Given the description of an element on the screen output the (x, y) to click on. 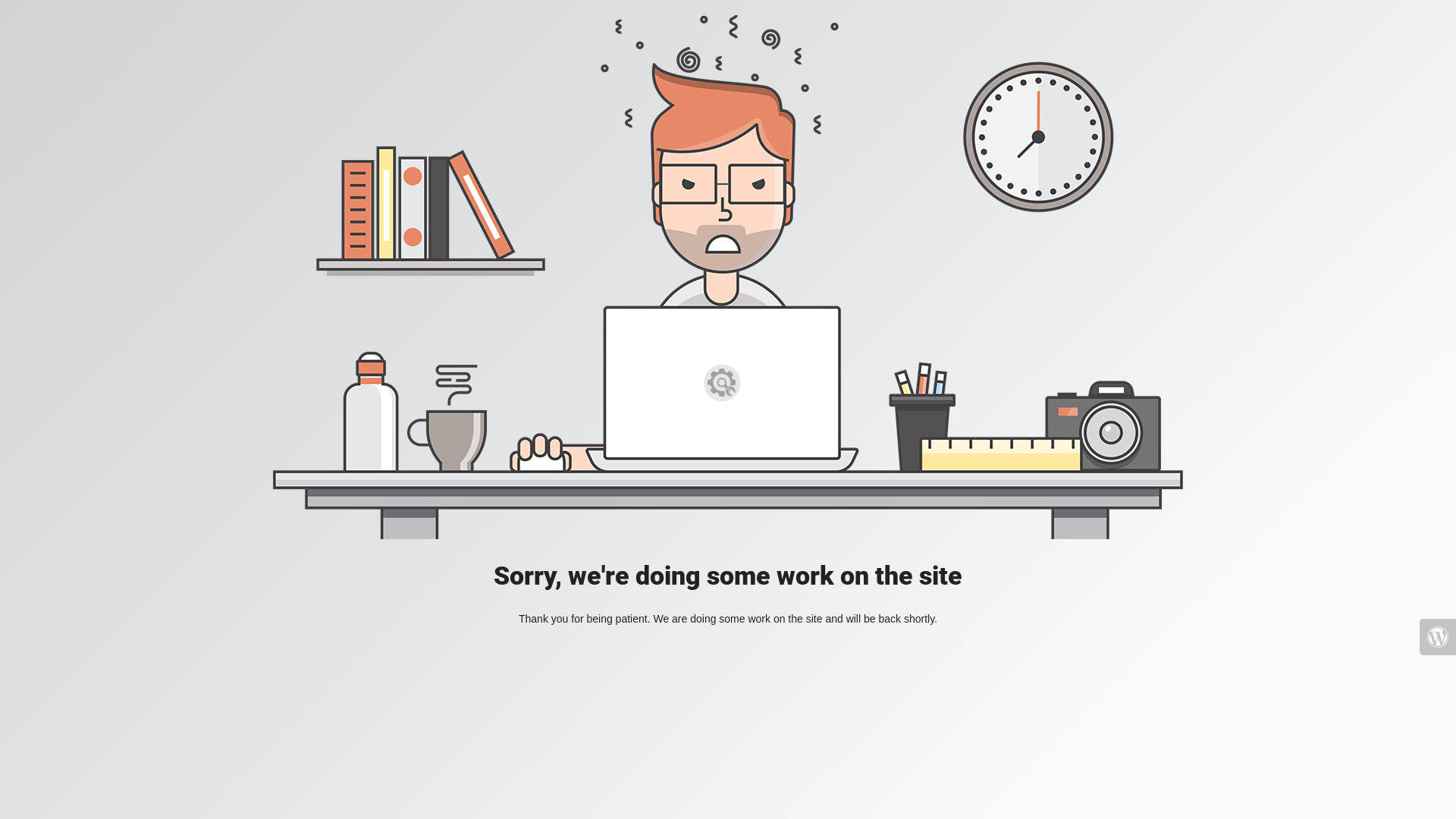
Mad Designer at work Element type: hover (728, 277)
